Given the description of an element on the screen output the (x, y) to click on. 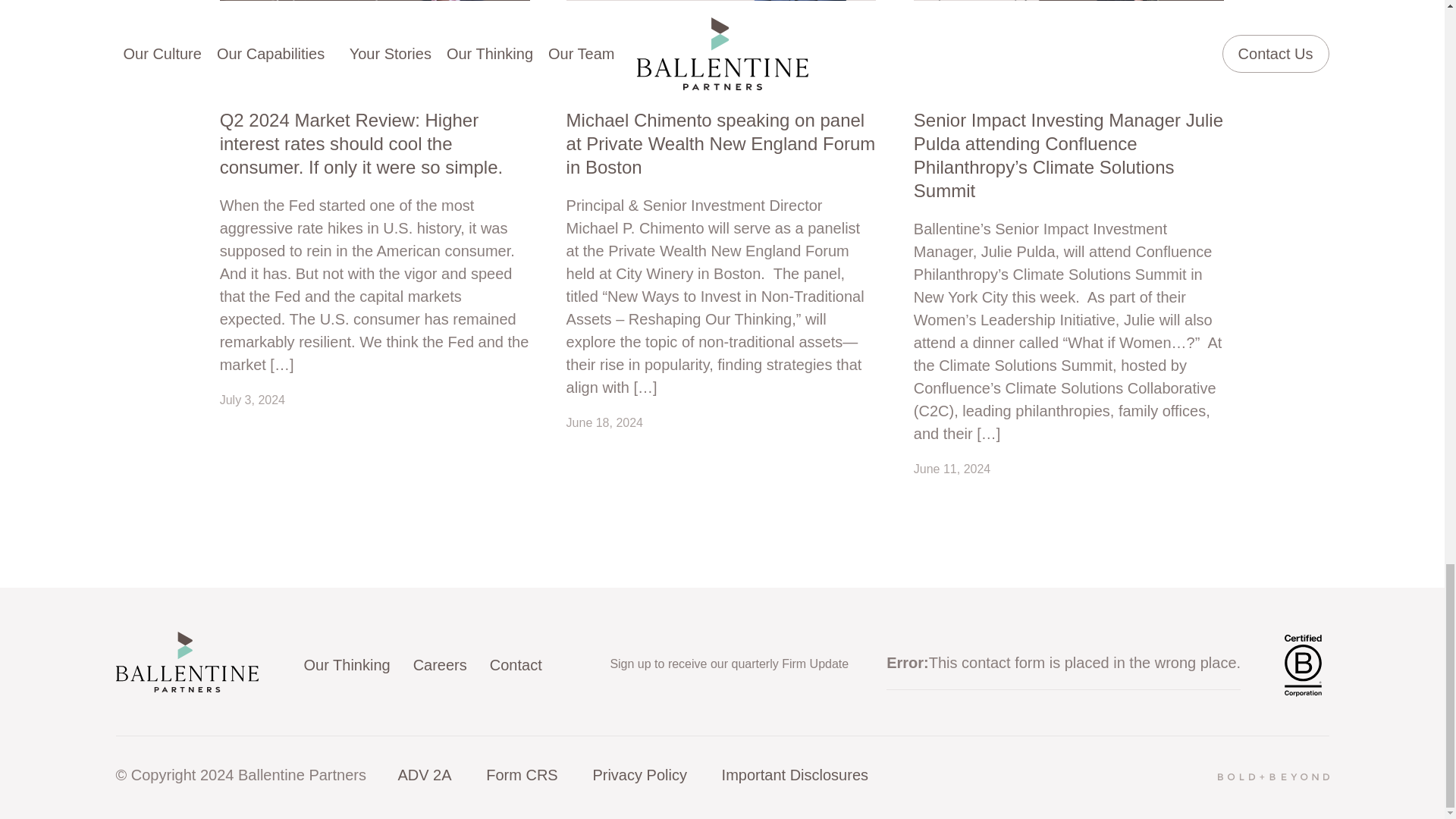
Careers (440, 664)
Our Thinking (346, 664)
Privacy Policy (638, 774)
Form CRS (521, 774)
ADV 2A (424, 774)
Important Disclosures (794, 774)
Linkedin (584, 664)
Contact (515, 664)
